Given the description of an element on the screen output the (x, y) to click on. 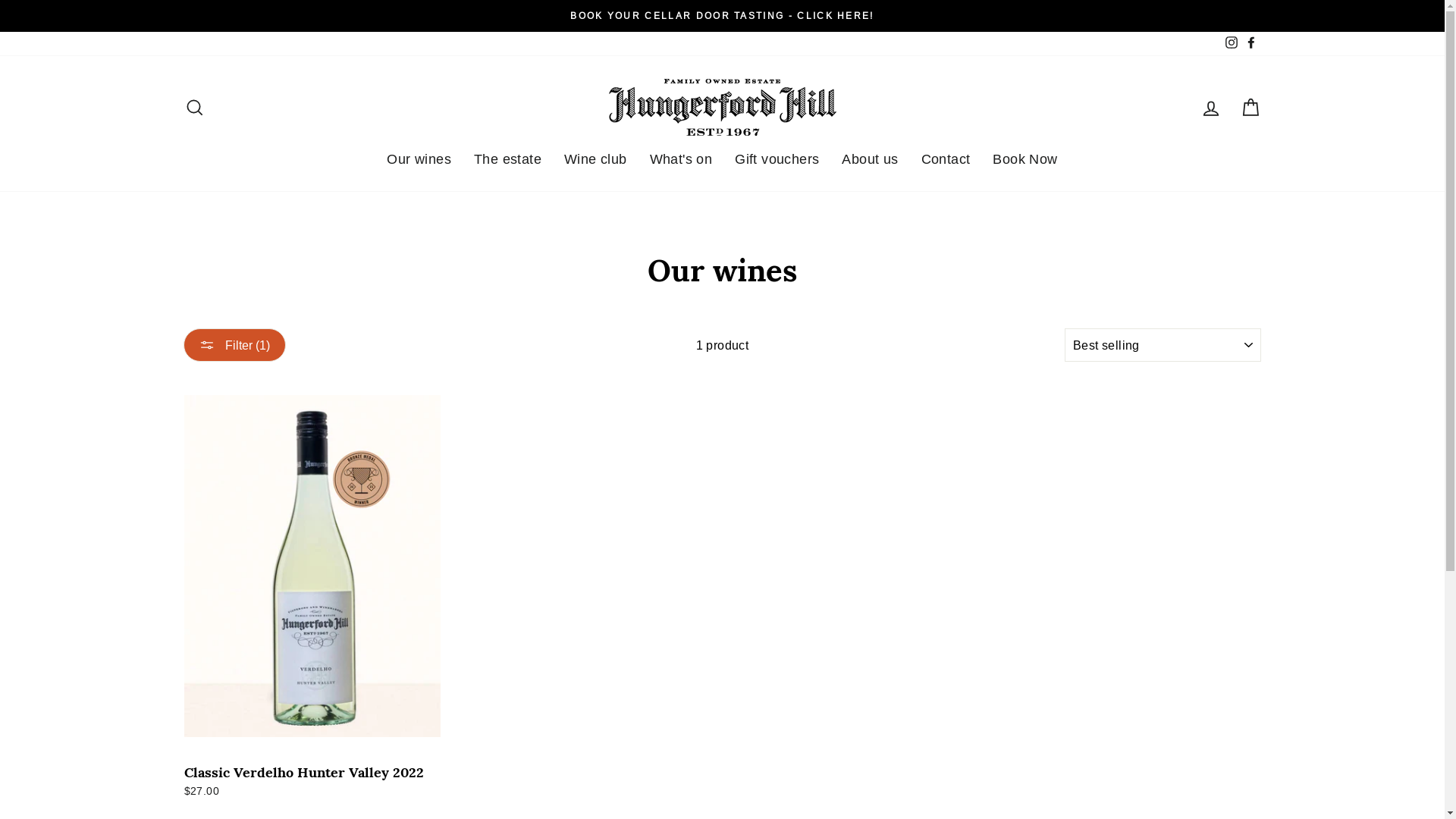
Wine club Element type: text (595, 158)
Contact Element type: text (946, 158)
About us Element type: text (869, 158)
What's on Element type: text (681, 158)
The estate Element type: text (507, 158)
Book Now Element type: text (1024, 158)
Facebook Element type: text (1250, 43)
Skip to content Element type: text (0, 0)
Classic Verdelho Hunter Valley 2022
$27.00 Element type: text (311, 588)
Search Element type: text (193, 106)
Our wines Element type: text (418, 158)
Gift vouchers Element type: text (776, 158)
BOOK YOUR CELLAR DOOR TASTING - CLICK HERE! Element type: text (722, 15)
Filter (1) Element type: text (234, 344)
Instagram Element type: text (1230, 43)
Log in Element type: text (1210, 106)
Cart Element type: text (1249, 106)
